Given the description of an element on the screen output the (x, y) to click on. 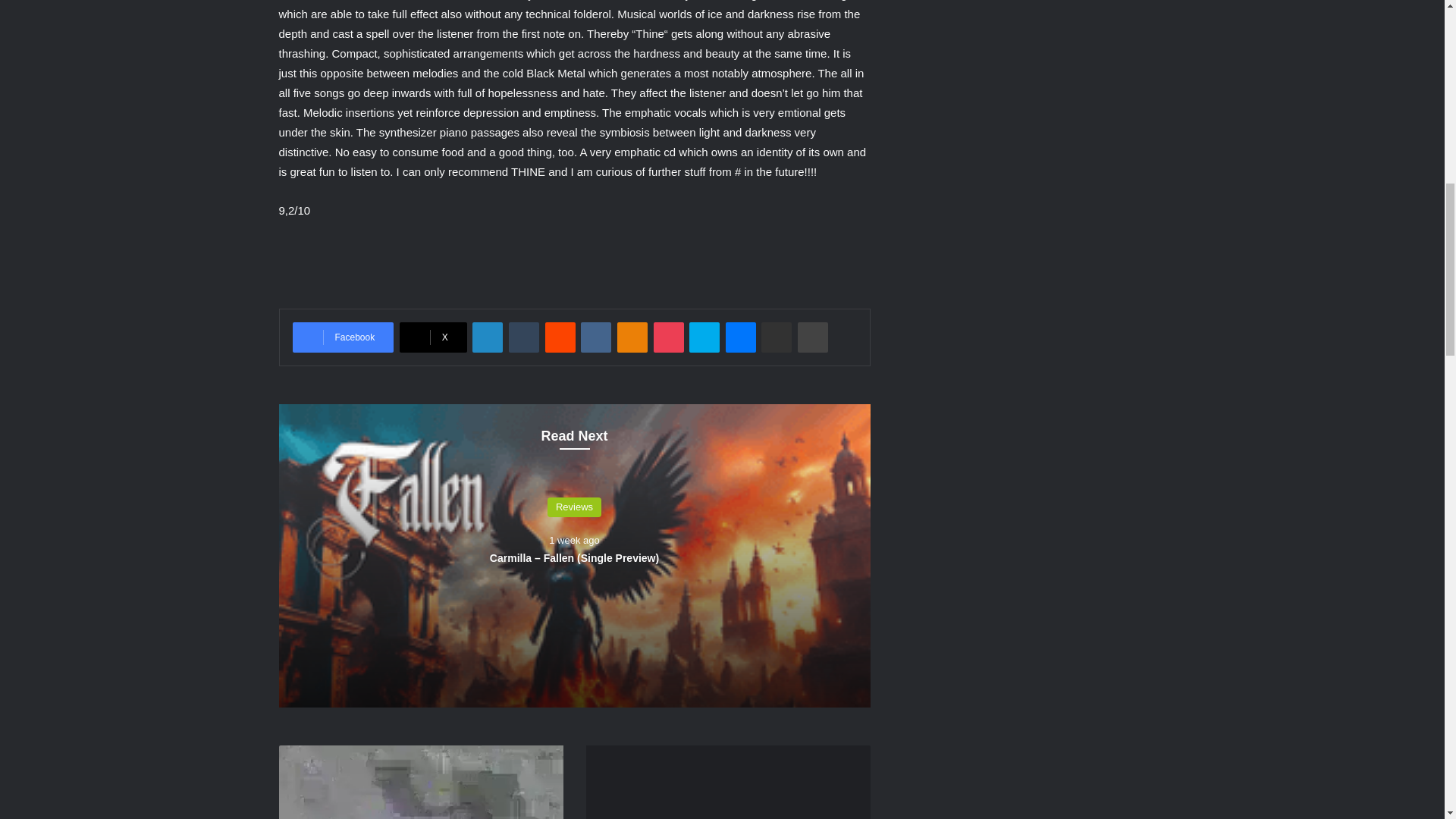
LinkedIn (486, 337)
VKontakte (595, 337)
Facebook (343, 337)
X (432, 337)
Tumblr (523, 337)
Pocket (668, 337)
Odnoklassniki (632, 337)
Reddit (559, 337)
Skype (703, 337)
